Given the description of an element on the screen output the (x, y) to click on. 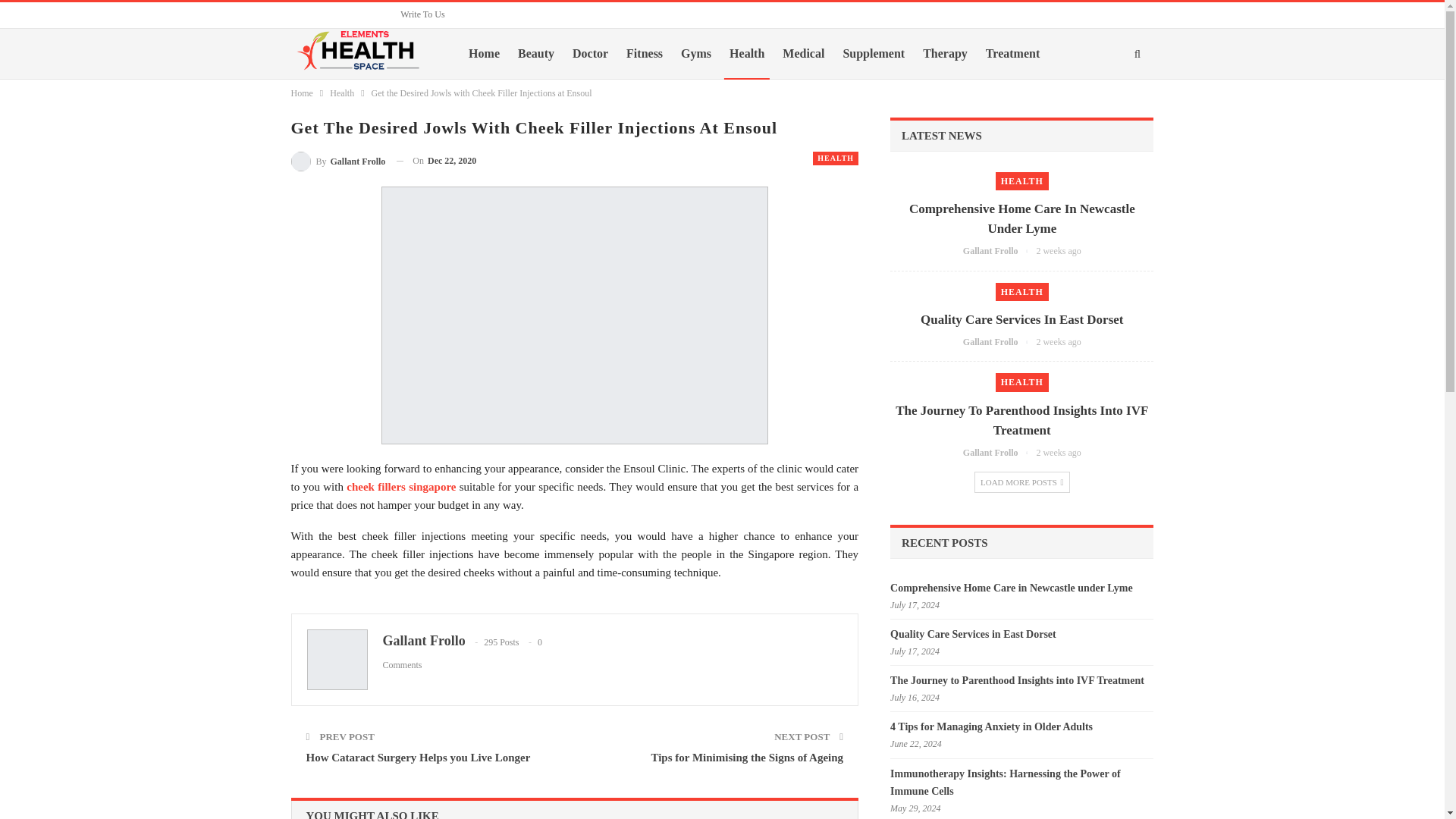
Health (341, 93)
Browse Author Articles (999, 250)
cheek fillers singapore (400, 486)
By Gallant Frollo (338, 160)
Health (746, 53)
YOU MIGHT ALSO LIKE (372, 814)
Gallant Frollo (422, 640)
Fitness (644, 53)
Home (302, 93)
Tips for Minimising the Signs of Ageing (746, 757)
HEALTH (835, 158)
Browse Author Articles (338, 160)
Write To Us (422, 14)
Treatment (1012, 53)
Therapy (944, 53)
